Given the description of an element on the screen output the (x, y) to click on. 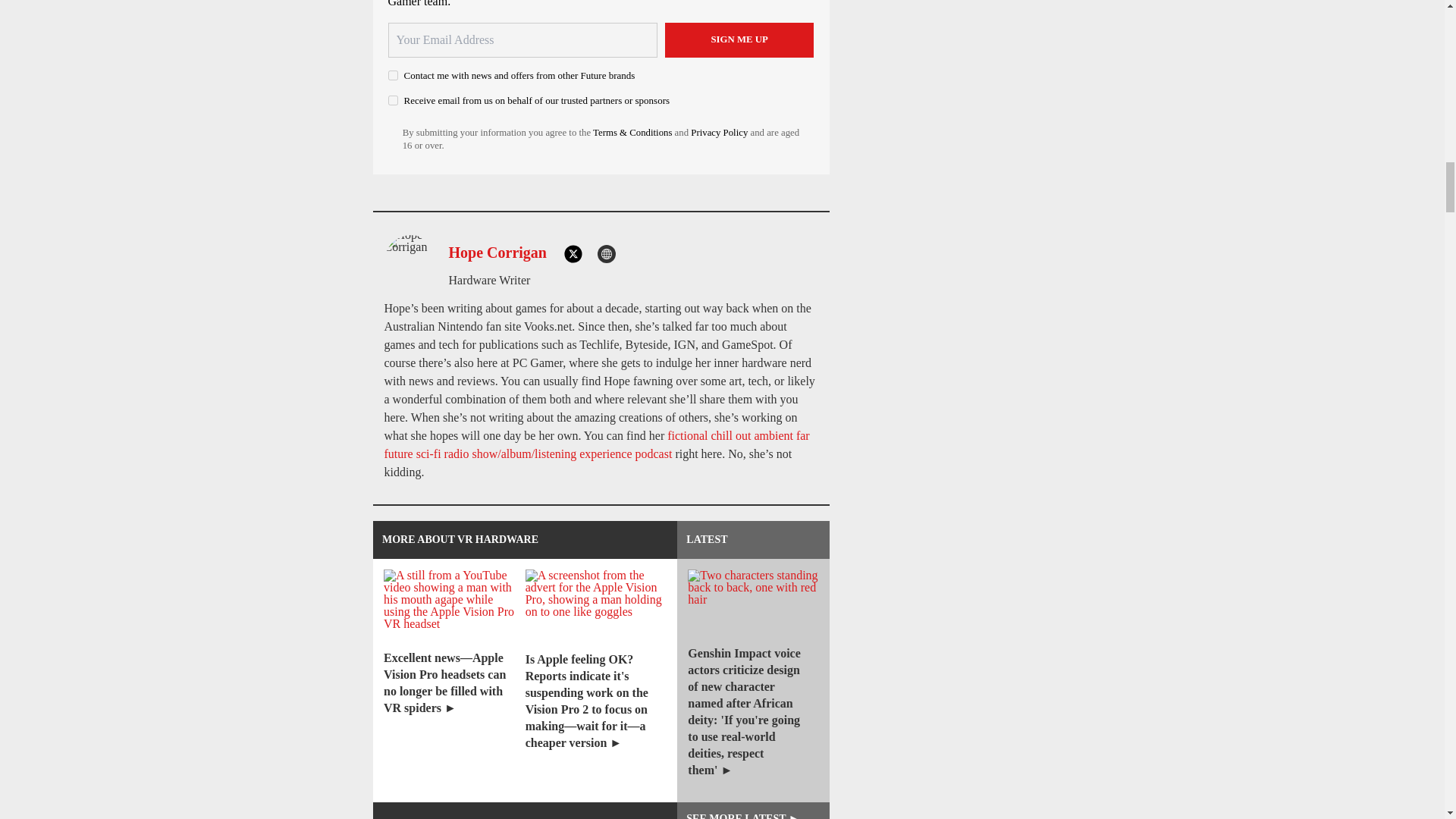
on (392, 75)
on (392, 100)
Sign me up (739, 39)
